Given the description of an element on the screen output the (x, y) to click on. 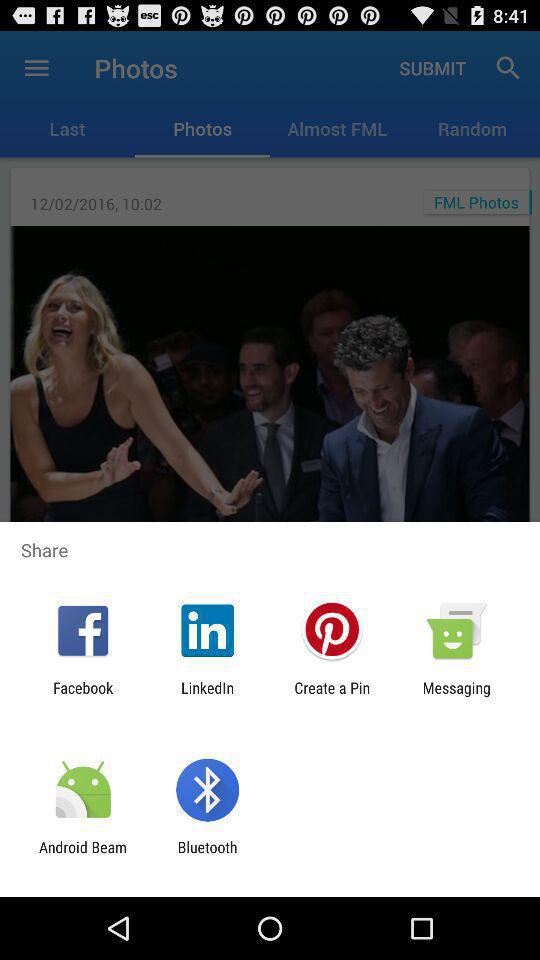
jump until the facebook (83, 696)
